Given the description of an element on the screen output the (x, y) to click on. 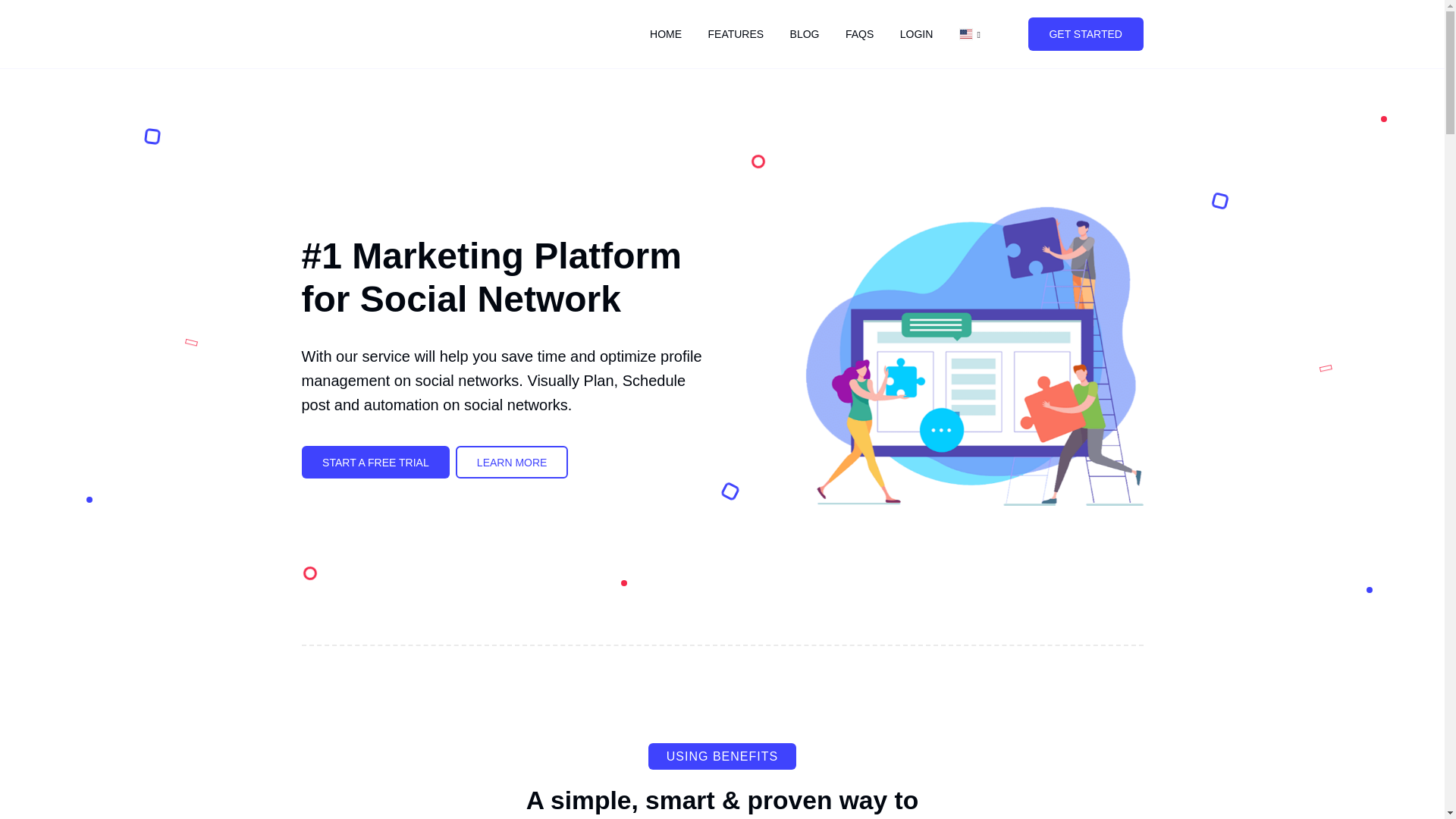
FEATURES (734, 33)
HOME (666, 33)
GET STARTED (1084, 33)
START A FREE TRIAL (375, 462)
LEARN MORE (511, 462)
LOGIN (916, 33)
